Given the description of an element on the screen output the (x, y) to click on. 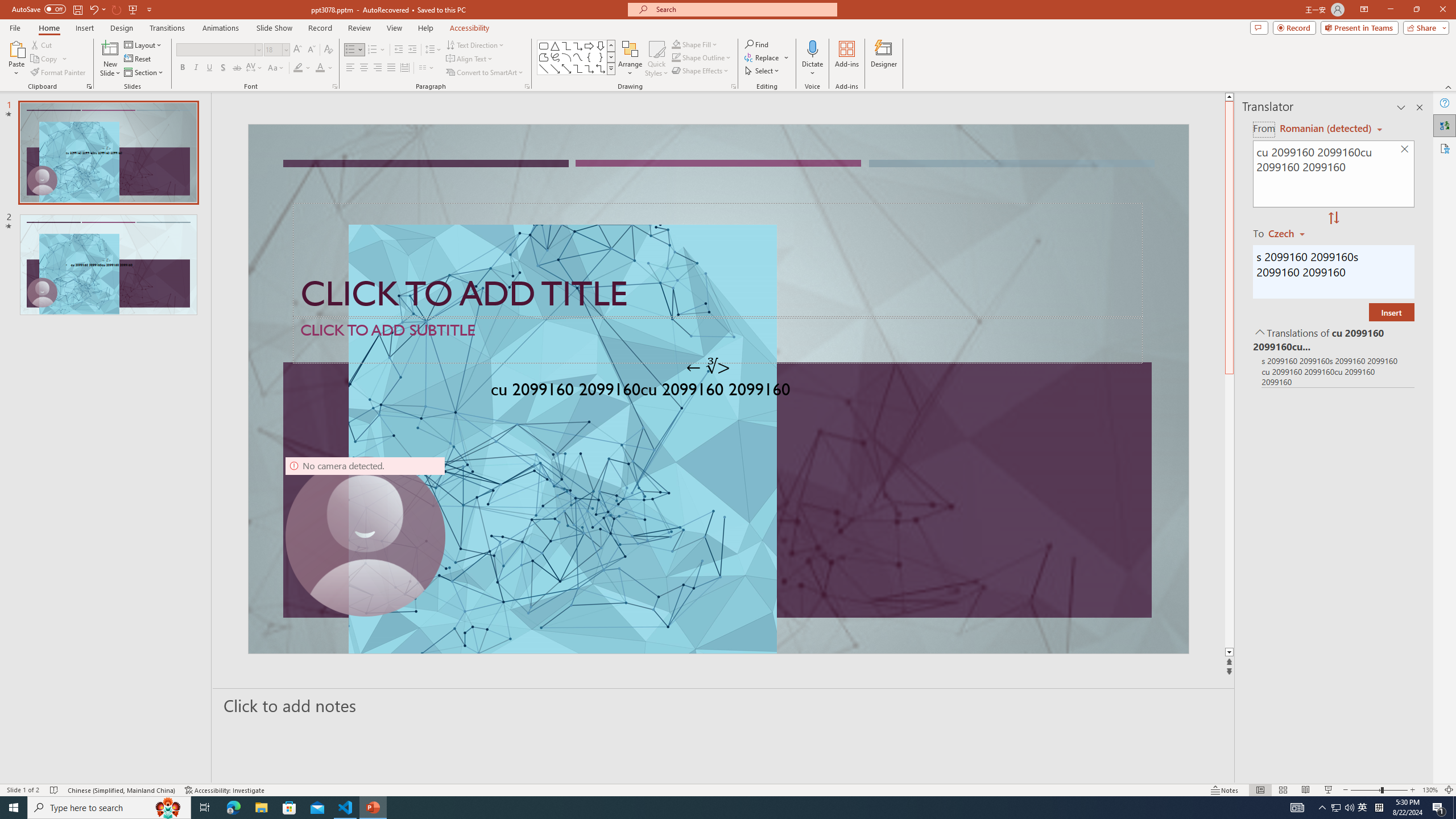
Microsoft search (742, 9)
Quick Styles (656, 58)
Cut (42, 44)
TextBox 7 (708, 367)
Line (543, 68)
Line Arrow (554, 68)
Freeform: Scribble (554, 57)
Czech (detected) (1323, 128)
Shape Fill Dark Green, Accent 2 (675, 44)
Copy (49, 58)
Underline (209, 67)
Czech (1291, 232)
